Given the description of an element on the screen output the (x, y) to click on. 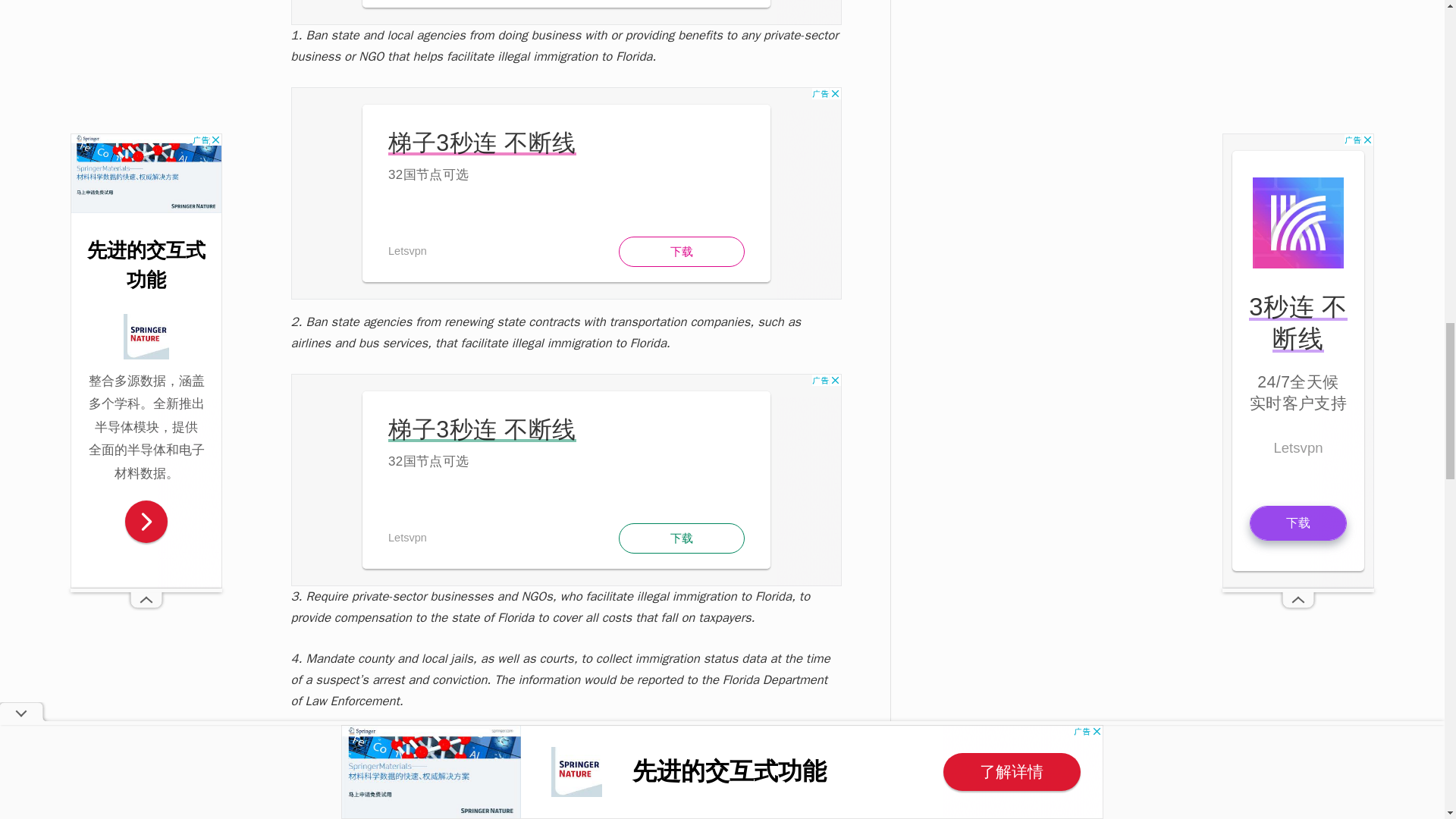
Advertisement (566, 12)
Advertisement (566, 479)
Advertisement (566, 192)
